Given the description of an element on the screen output the (x, y) to click on. 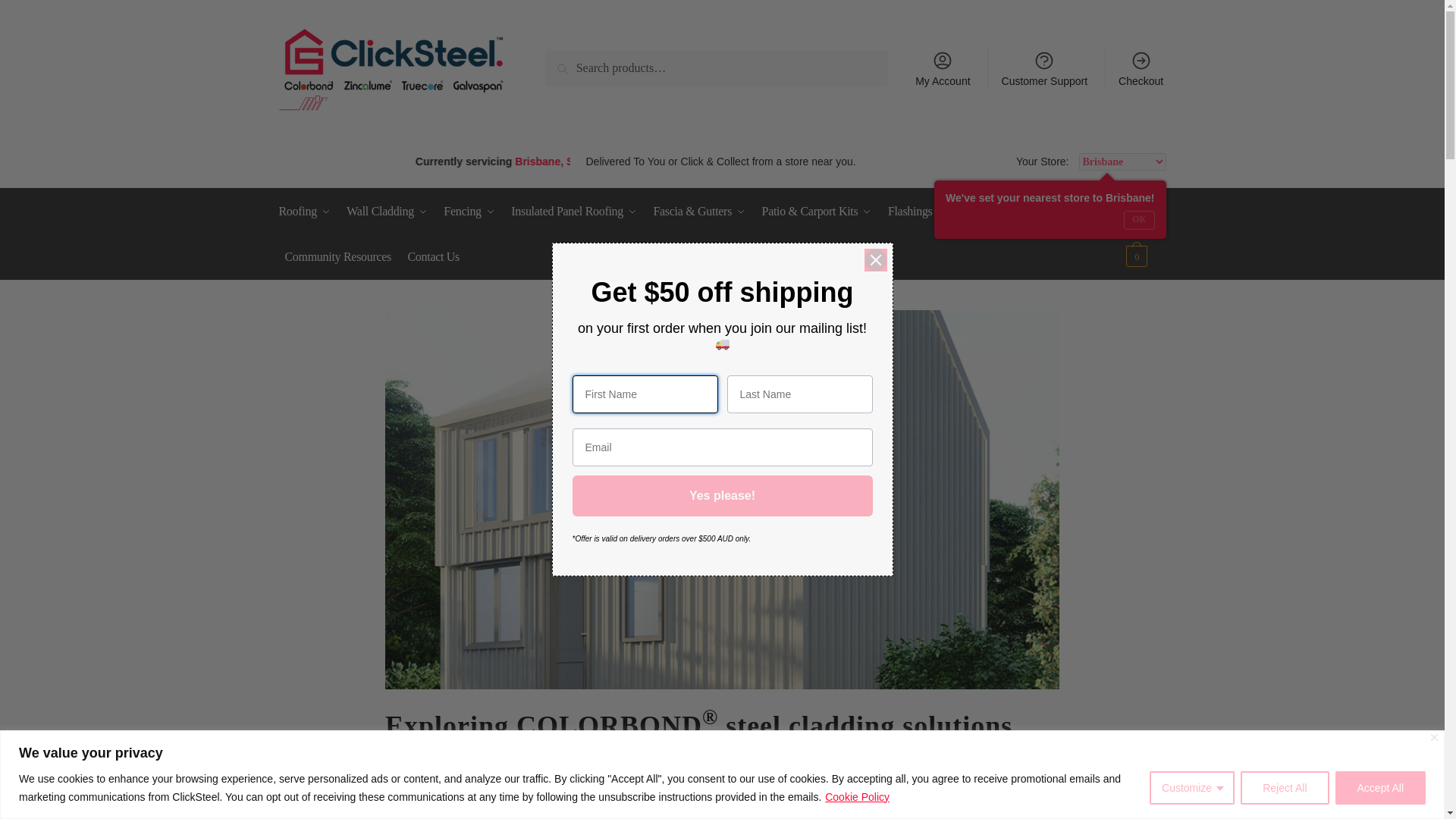
Checkout (1141, 67)
Accept All (1380, 786)
Customer Support (1043, 67)
My Account (942, 67)
Cookie Policy (856, 796)
Roofing (307, 211)
Reject All (1283, 786)
Customize (1192, 786)
Search (579, 67)
OK (1139, 220)
View your shopping cart (1144, 234)
